Given the description of an element on the screen output the (x, y) to click on. 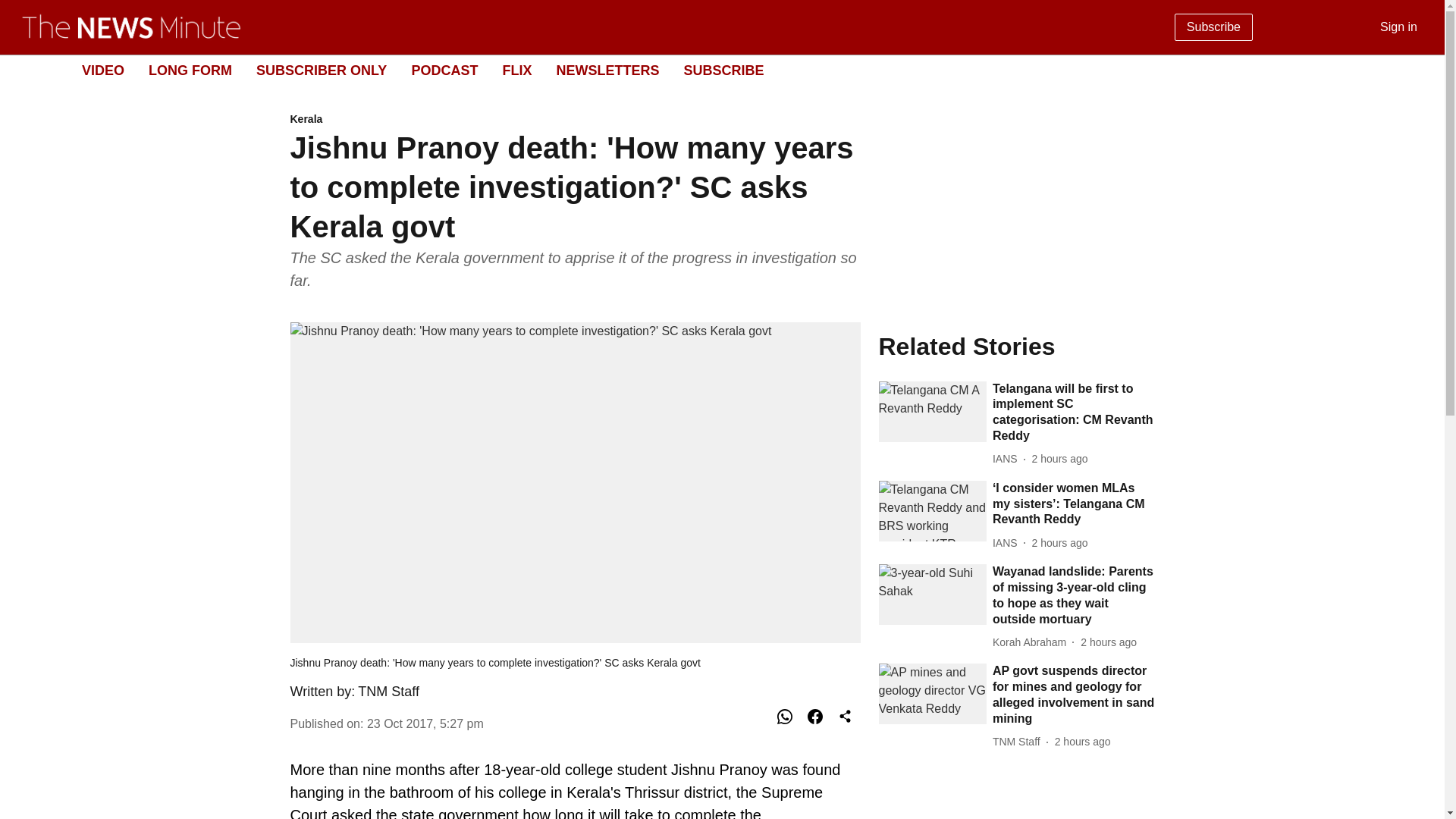
TNM Staff (388, 691)
2024-08-02 06:25 (1059, 458)
Dark Mode (1415, 70)
IANS (1007, 458)
2017-10-23 09:27 (424, 723)
2024-08-02 06:13 (1108, 642)
PODCAST (443, 70)
SUBSCRIBER ONLY (321, 70)
SUBSCRIBE (722, 70)
2024-08-02 06:12 (1082, 741)
2024-08-02 06:21 (1059, 543)
Kerala (574, 119)
FLIX (516, 70)
NEWSLETTERS (607, 70)
